Given the description of an element on the screen output the (x, y) to click on. 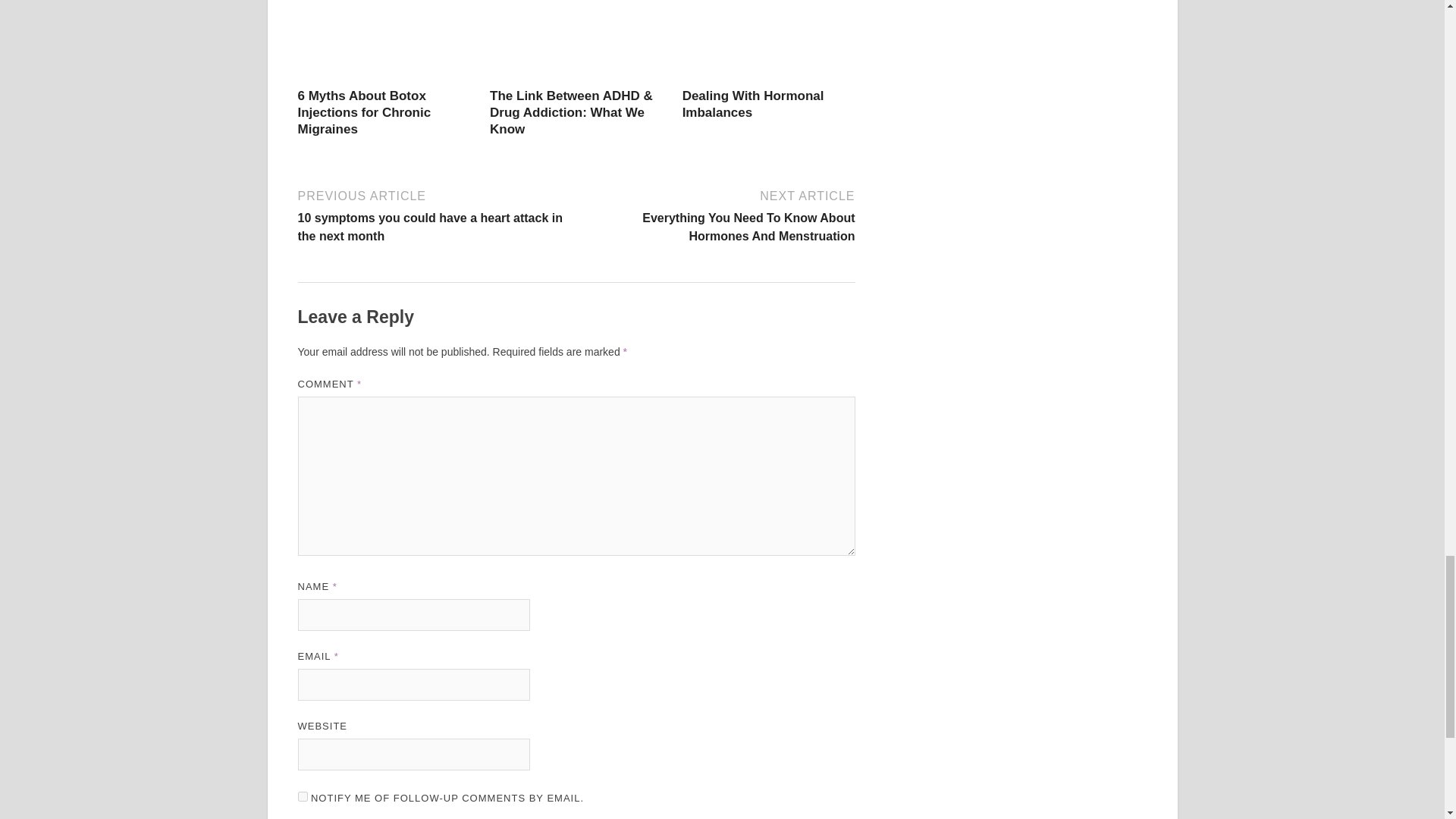
Dealing With Hormonal Imbalances (769, 78)
Dealing With Hormonal Imbalances (753, 103)
6 Myths About Botox Injections for Chronic Migraines (383, 78)
Dealing With Hormonal Imbalances (753, 103)
6 Myths About Botox Injections for Chronic Migraines (363, 112)
6 Myths About Botox Injections for Chronic Migraines (363, 112)
subscribe (302, 796)
